Given the description of an element on the screen output the (x, y) to click on. 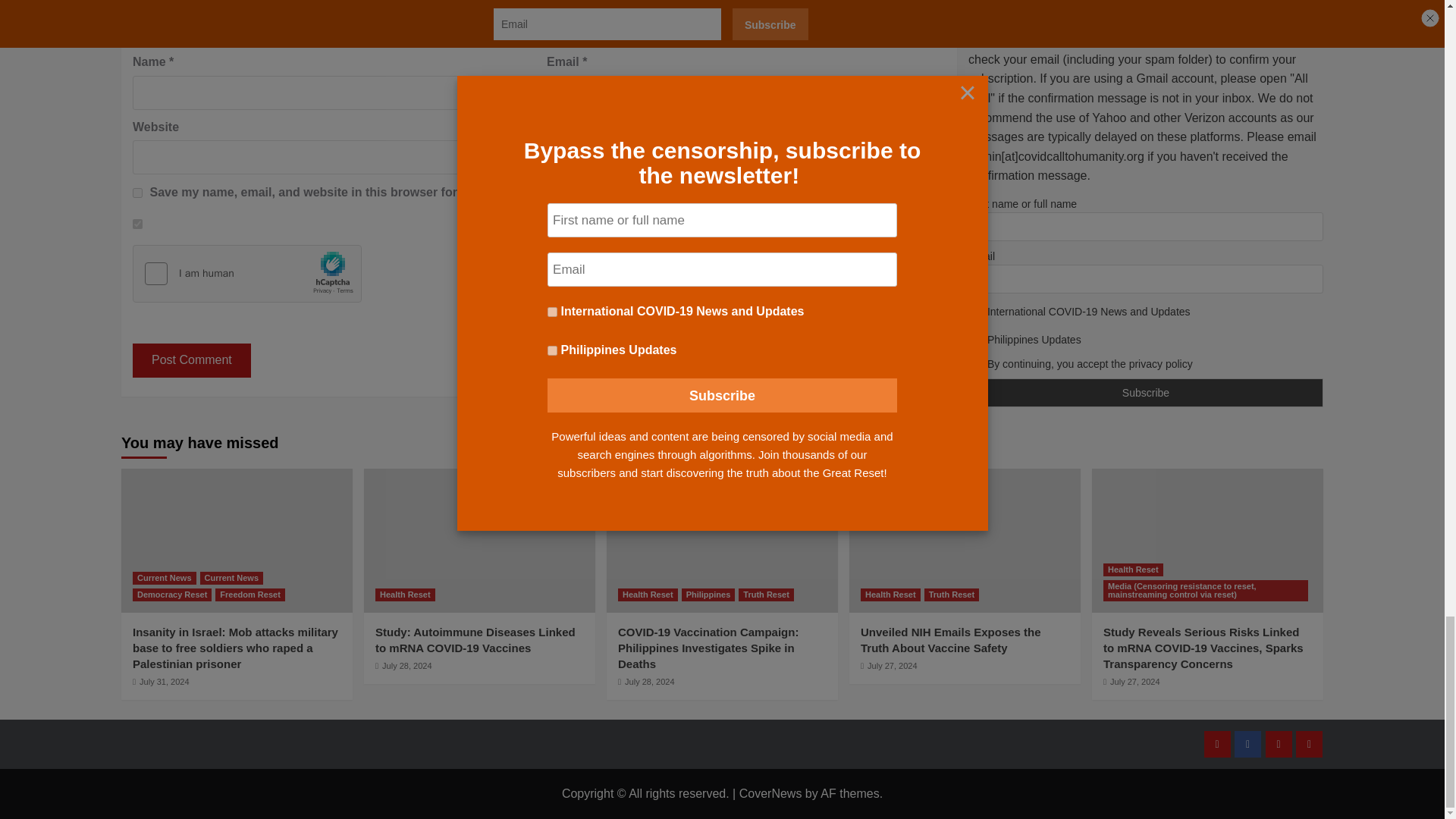
Post Comment (191, 360)
Widget containing checkbox for hCaptcha security challenge (247, 273)
yes (137, 193)
1 (137, 224)
